Given the description of an element on the screen output the (x, y) to click on. 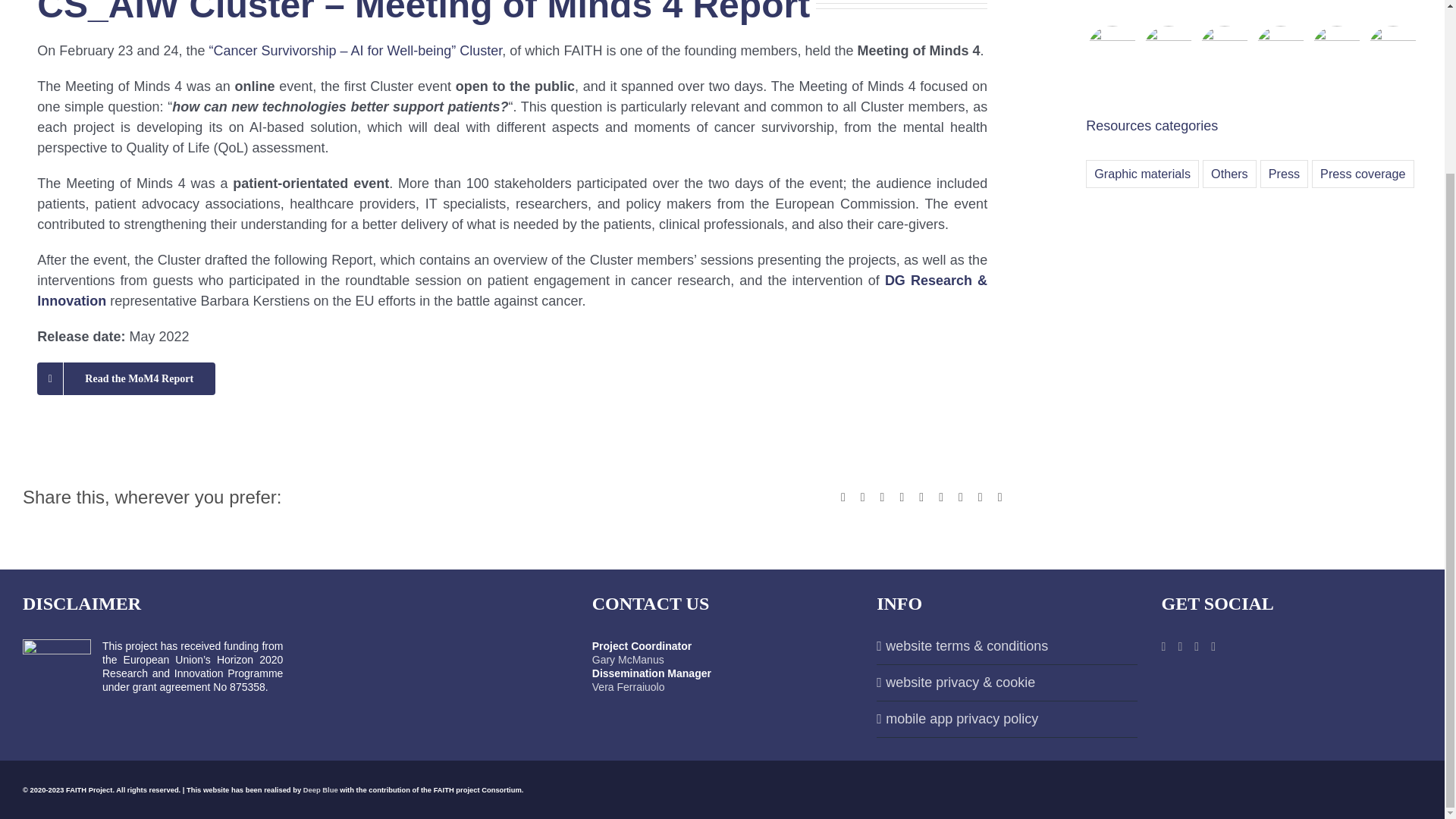
Graphic materials (1142, 173)
Others (1229, 173)
Read the MoM4 Report (126, 378)
